Given the description of an element on the screen output the (x, y) to click on. 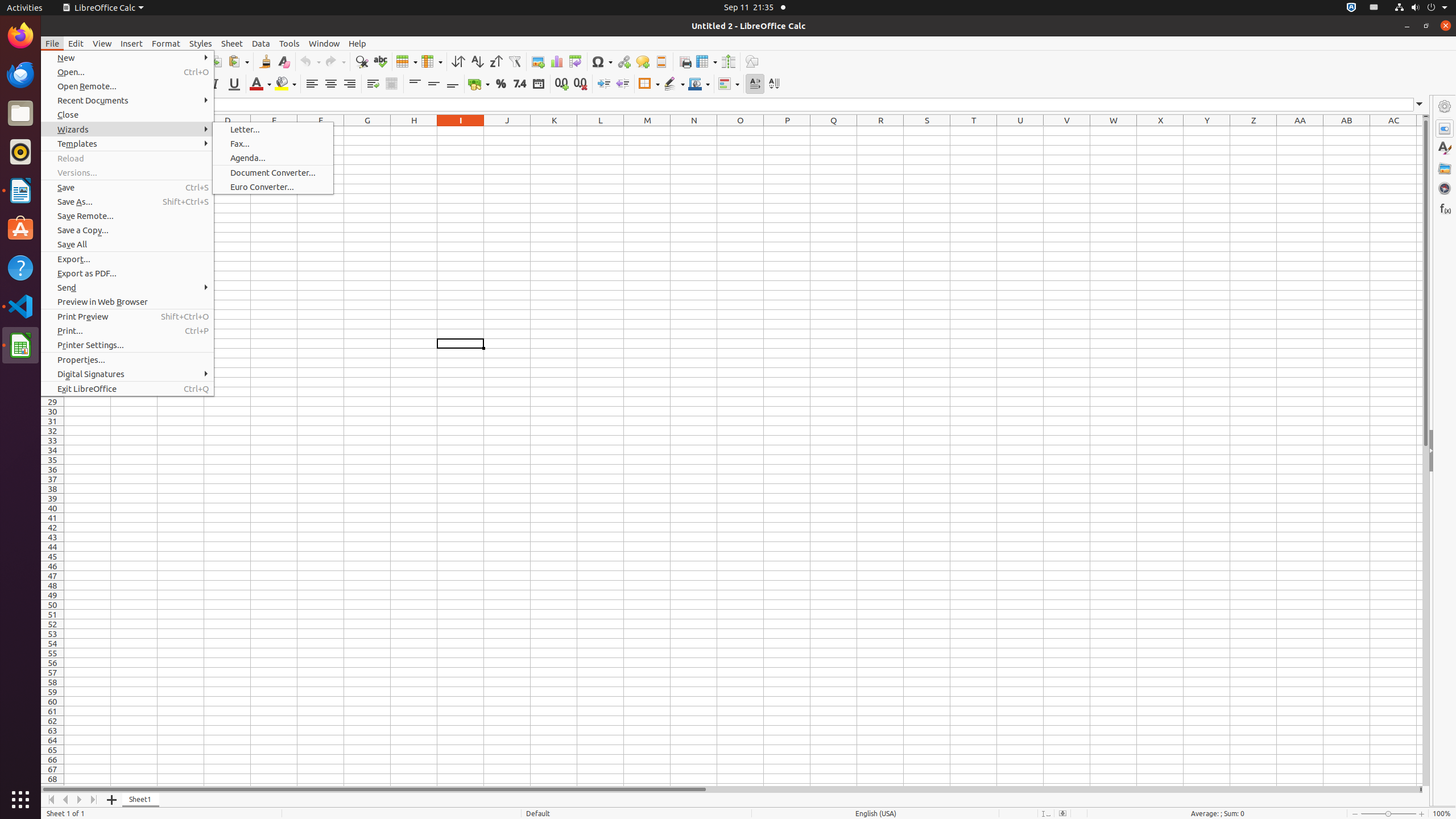
Borders (Shift to overwrite) Element type: push-button (648, 83)
H1 Element type: table-cell (413, 130)
Align Center Element type: push-button (330, 83)
Headers and Footers Element type: push-button (660, 61)
Underline Element type: push-button (233, 83)
